Given the description of an element on the screen output the (x, y) to click on. 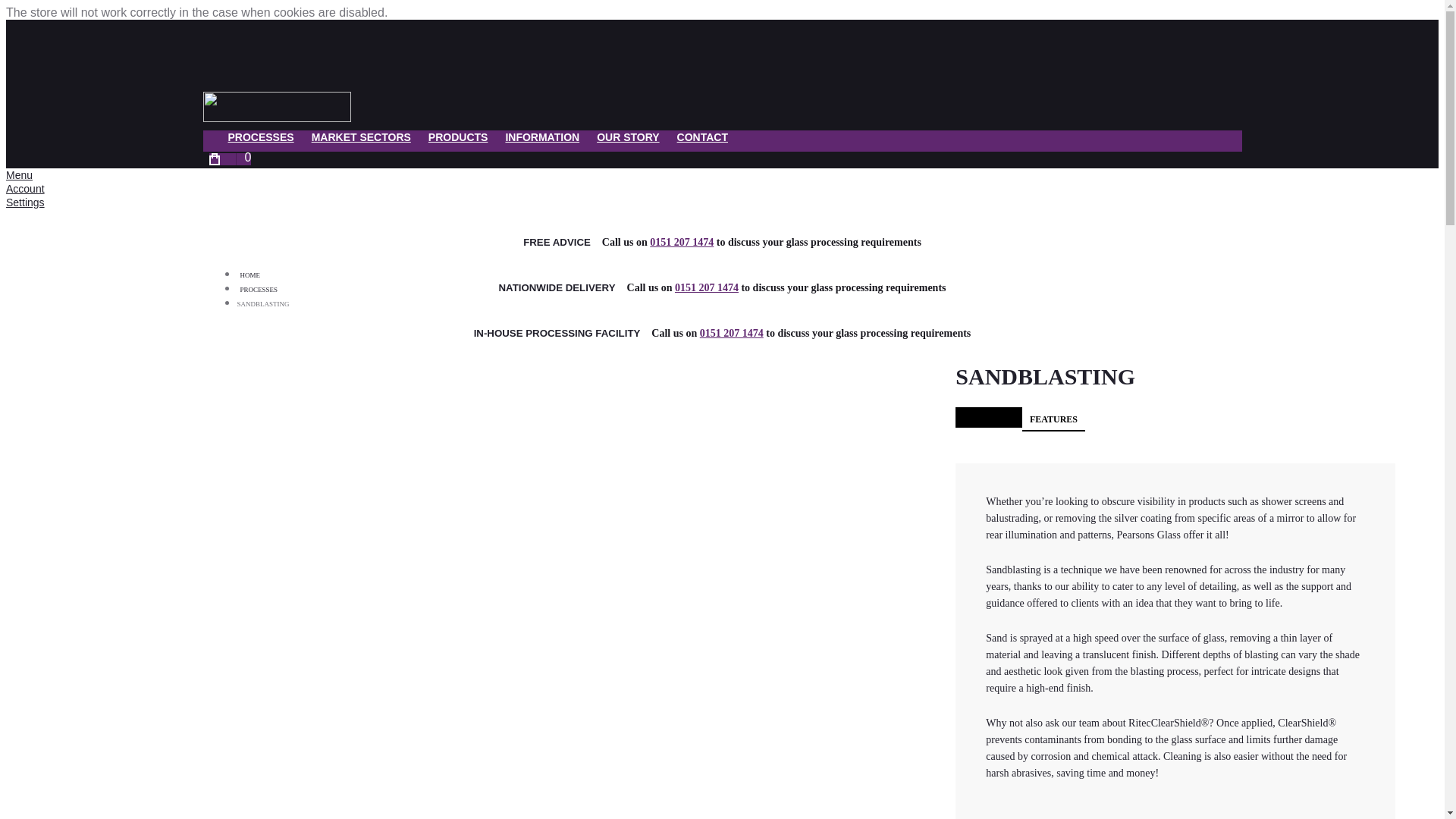
0 (230, 159)
Menu (18, 174)
OUR STORY (627, 141)
MARKET SECTORS (360, 141)
Settings (25, 202)
Account (25, 188)
PRODUCTS (458, 141)
PROCESSES (261, 141)
INFORMATION (541, 141)
CONTACT (702, 141)
